Given the description of an element on the screen output the (x, y) to click on. 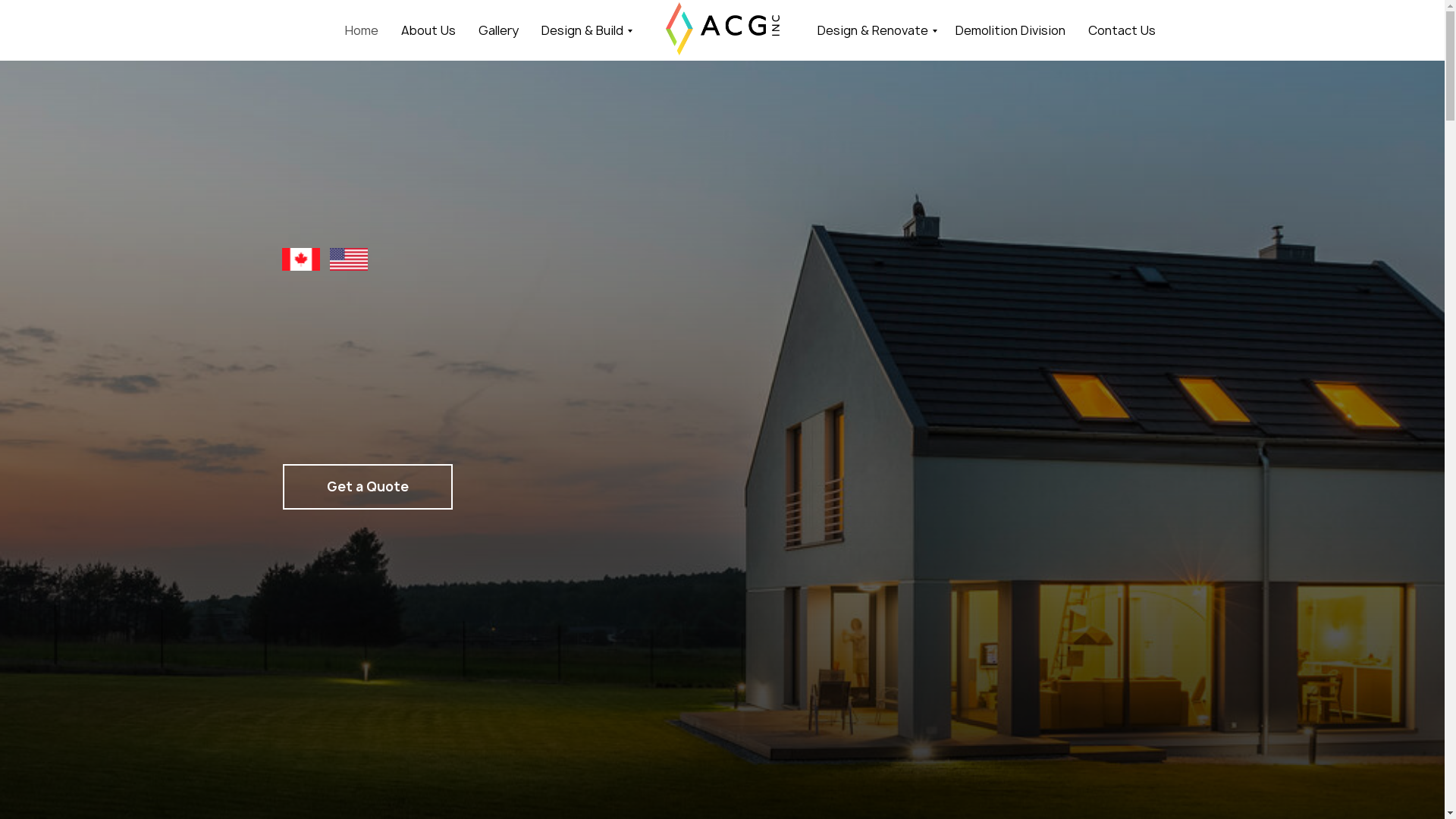
Gallery Element type: text (497, 29)
Home Element type: text (360, 29)
Contact Us Element type: text (1120, 29)
Get a Quote Element type: text (366, 486)
Design & Build Element type: text (584, 29)
Demolition Division Element type: text (1010, 29)
Design & Renovate Element type: text (874, 29)
About Us Element type: text (427, 29)
